Given the description of an element on the screen output the (x, y) to click on. 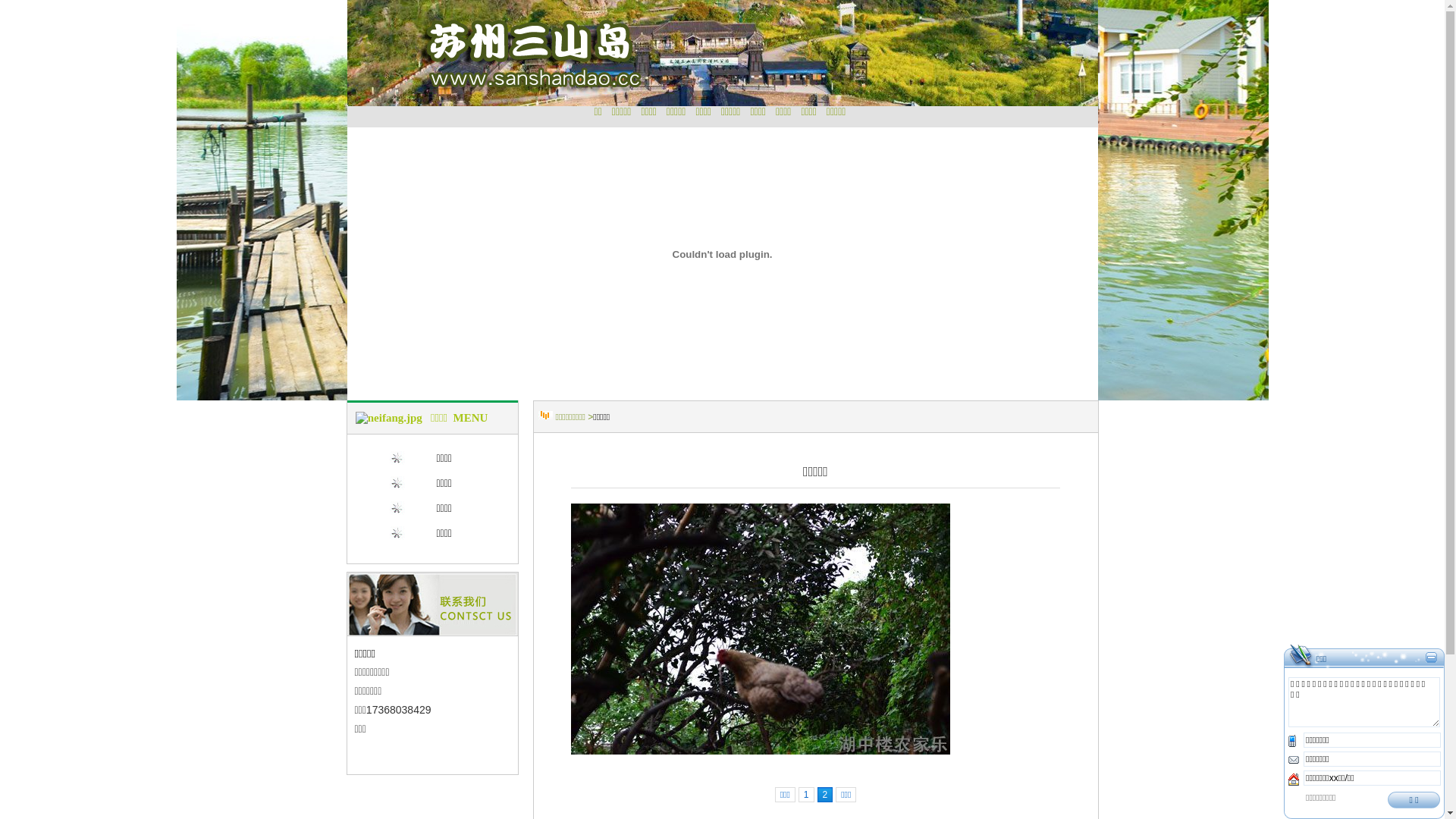
1 Element type: text (806, 794)
